Given the description of an element on the screen output the (x, y) to click on. 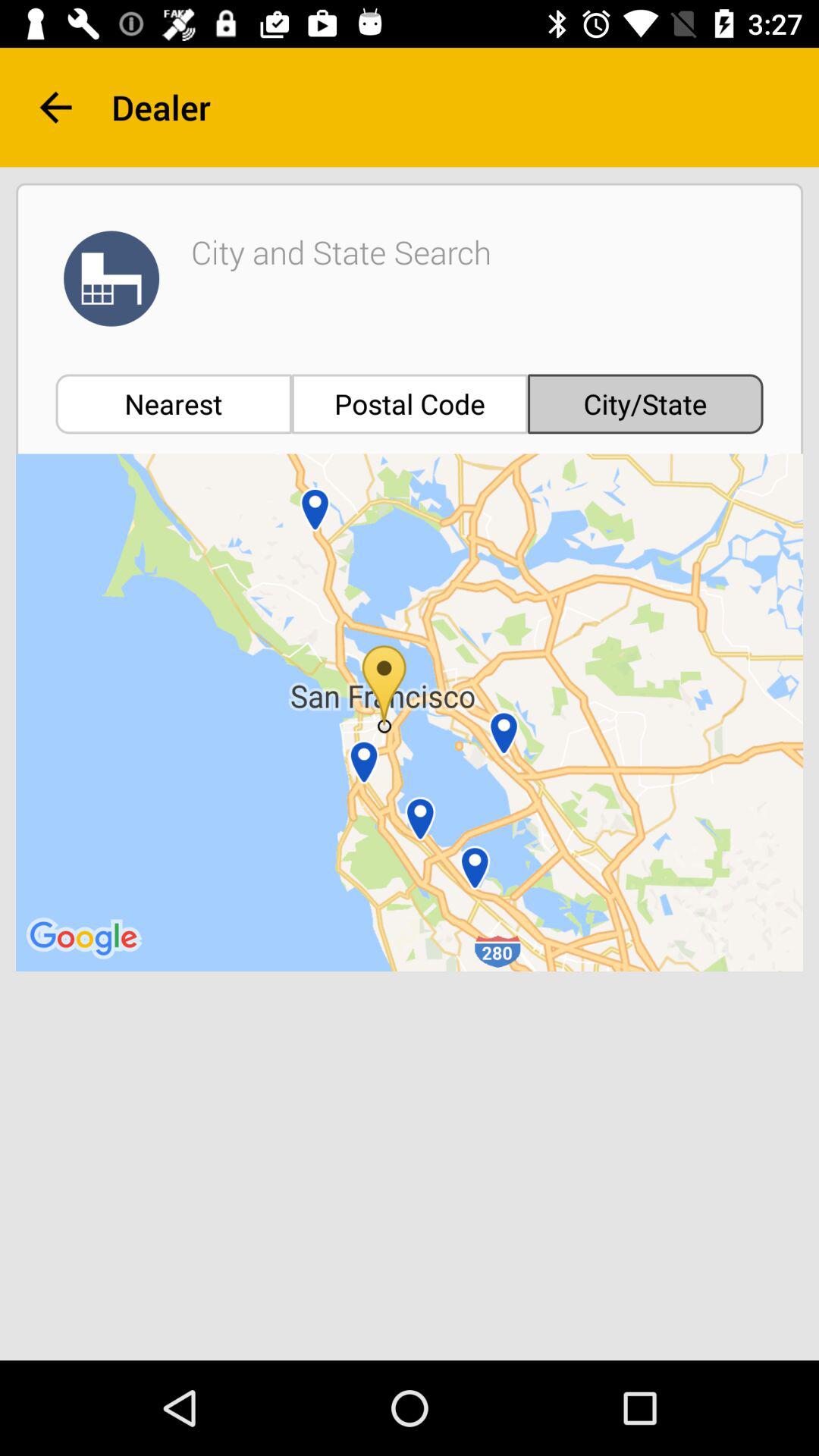
turn on the item to the left of city/state item (409, 403)
